Given the description of an element on the screen output the (x, y) to click on. 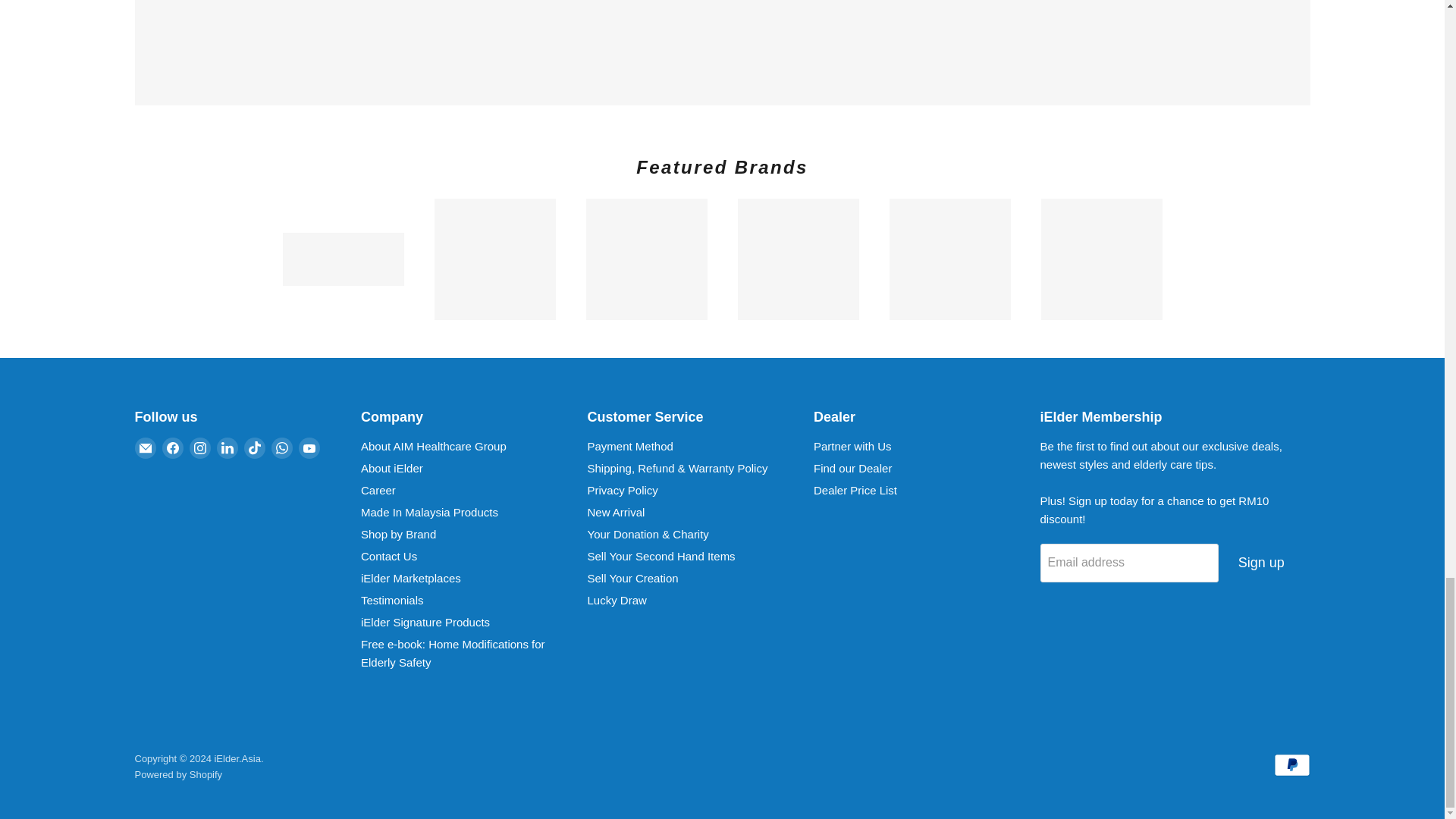
LinkedIn (227, 447)
TikTok (254, 447)
Email (145, 447)
Instagram (200, 447)
WhatsApp (281, 447)
Facebook (172, 447)
